Given the description of an element on the screen output the (x, y) to click on. 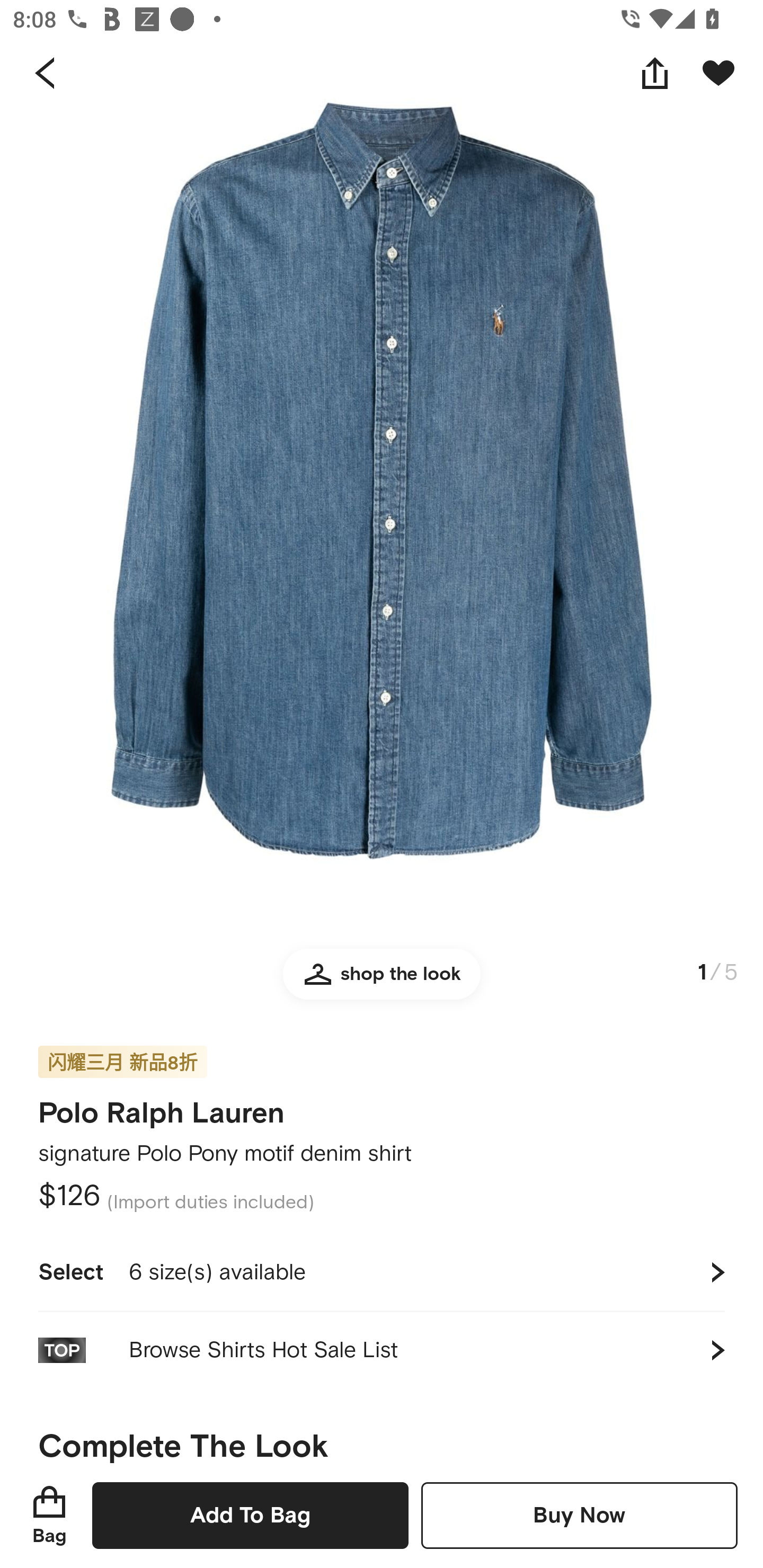
shop the look (381, 982)
闪耀三月 新品8折 (122, 1049)
Polo Ralph Lauren (161, 1107)
Select 6 size(s) available (381, 1272)
Browse Shirts Hot Sale List (381, 1349)
Bag (49, 1515)
Add To Bag (250, 1515)
Buy Now (579, 1515)
